Given the description of an element on the screen output the (x, y) to click on. 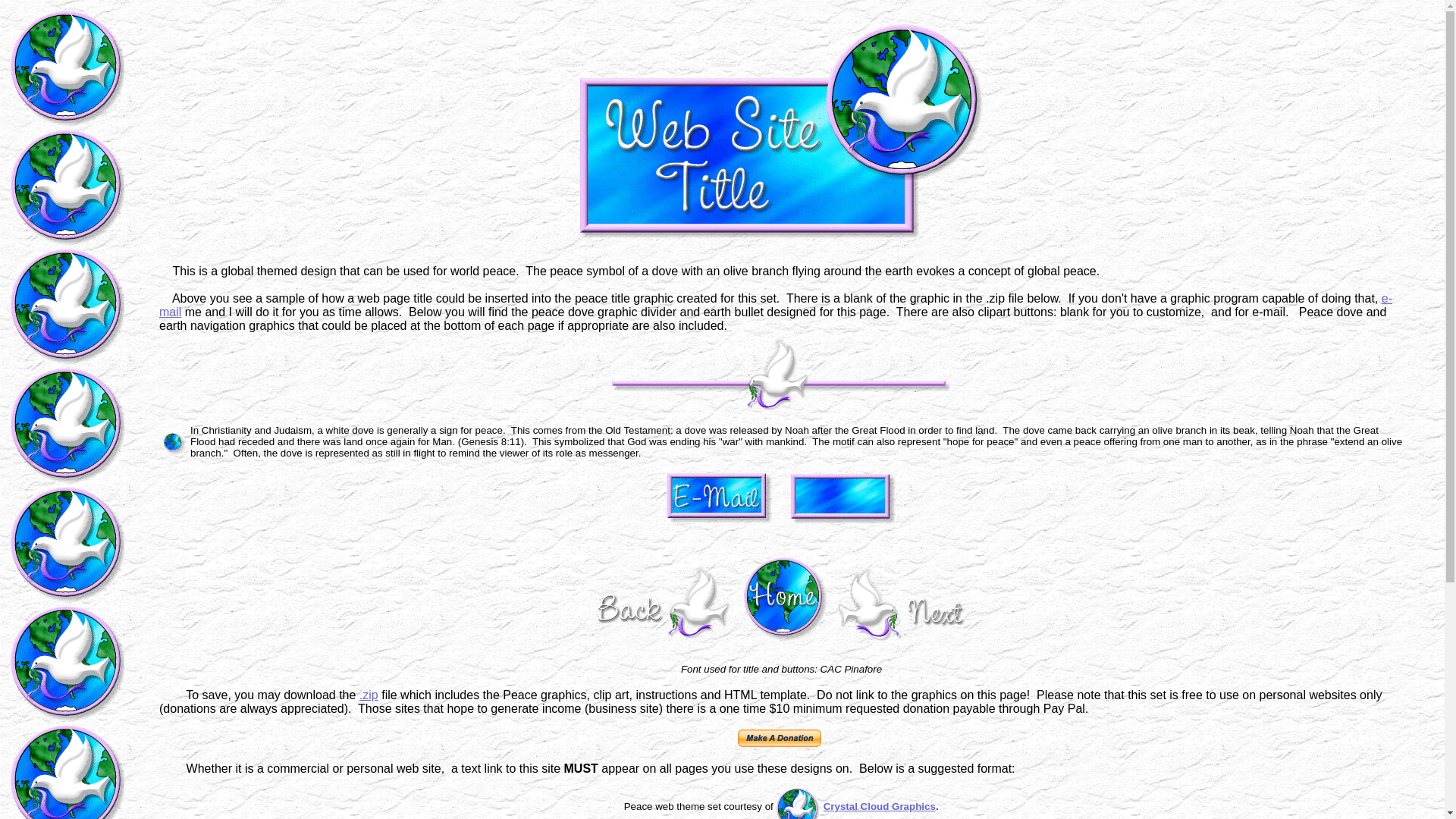
.zip (368, 694)
Crystal Cloud Graphics (880, 805)
e-mail (774, 304)
